Given the description of an element on the screen output the (x, y) to click on. 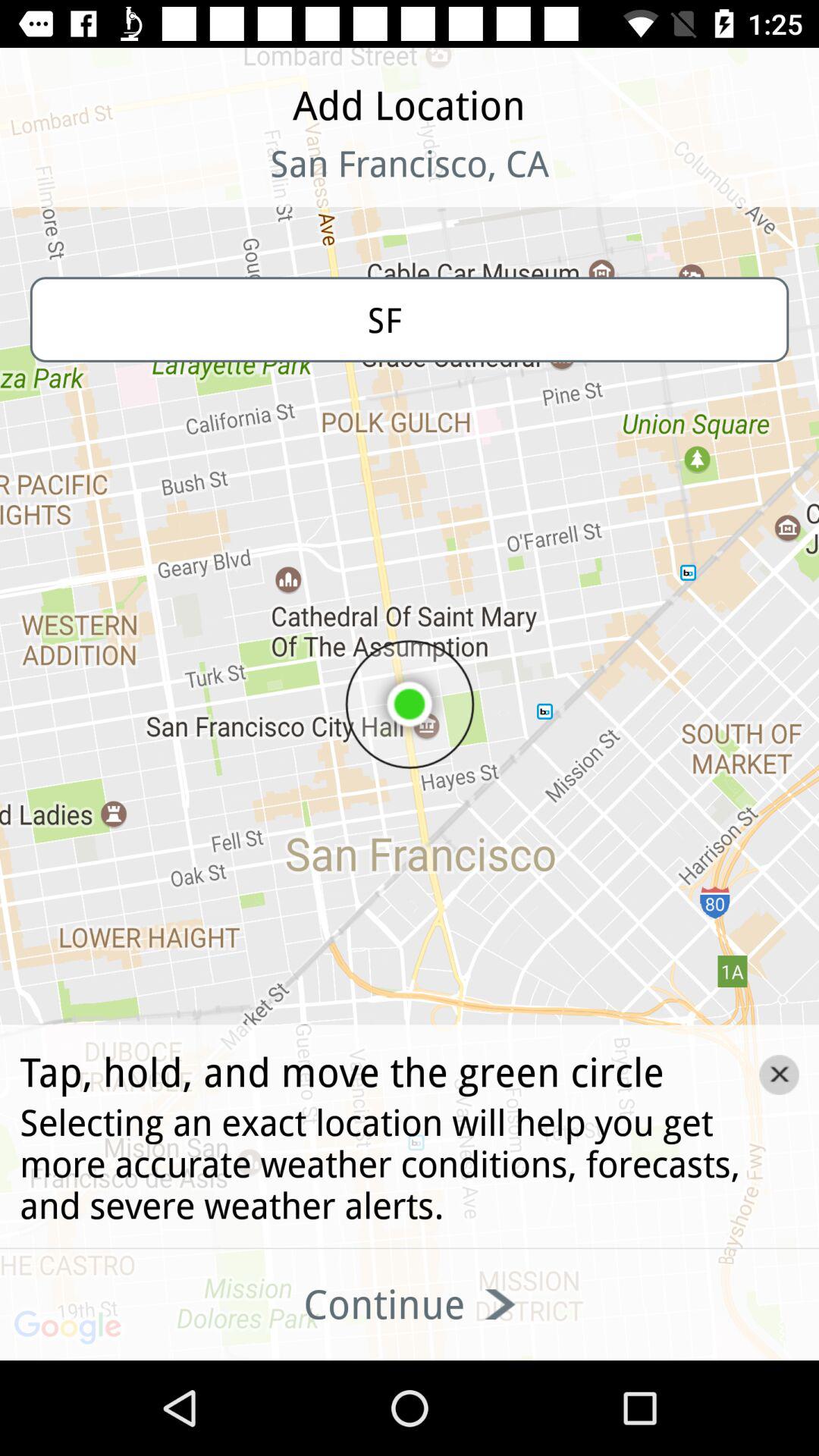
select the icon above selecting an exact item (779, 1074)
